Given the description of an element on the screen output the (x, y) to click on. 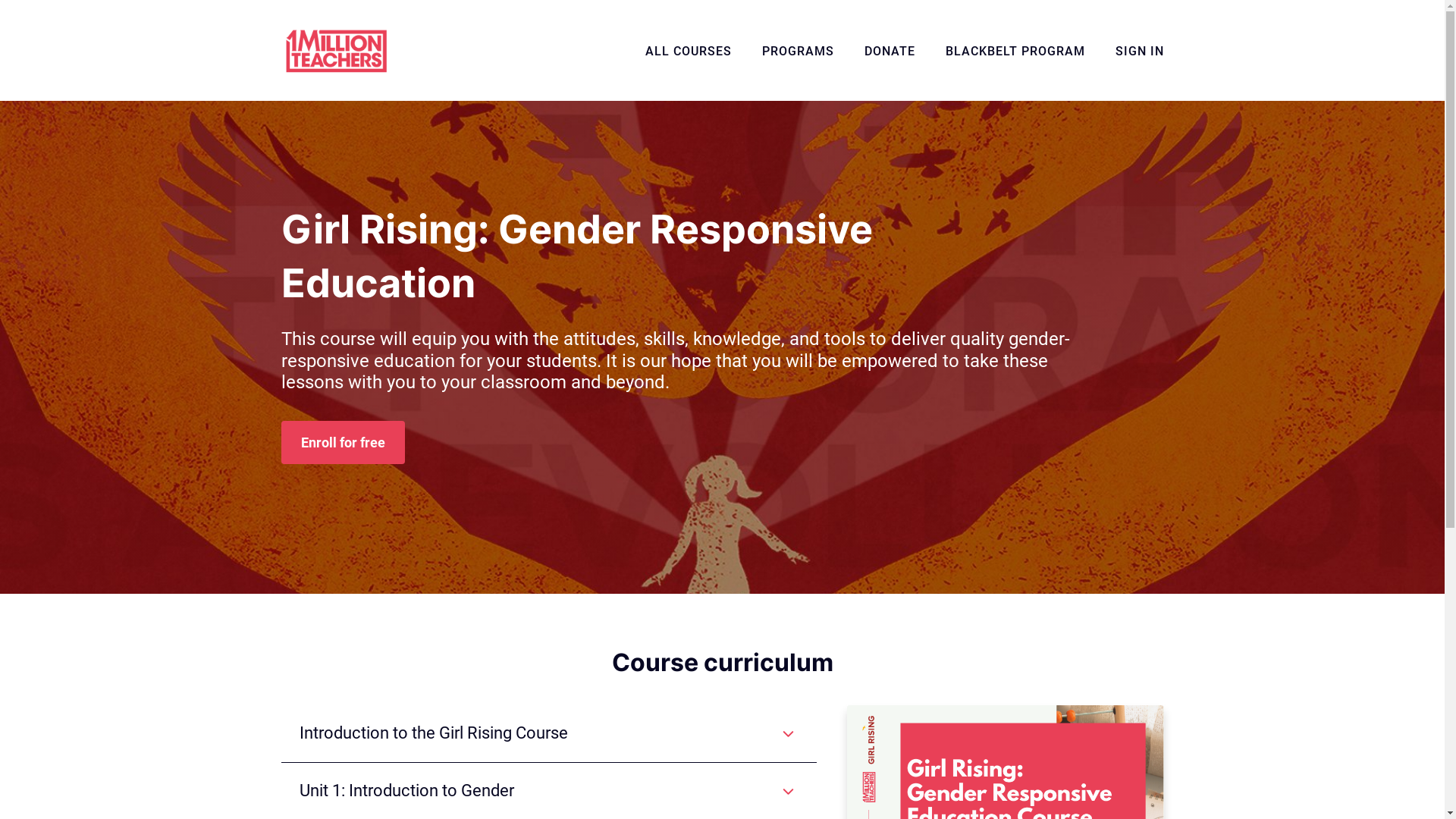
PROGRAMS Element type: text (797, 50)
BLACKBELT PROGRAM Element type: text (1014, 50)
DONATE Element type: text (889, 50)
SIGN IN Element type: text (1138, 50)
1 Million Teachers Element type: text (334, 49)
Enroll for free Element type: text (342, 442)
Introduction to the Girl Rising Course Element type: text (547, 733)
ALL COURSES Element type: text (687, 50)
